Given the description of an element on the screen output the (x, y) to click on. 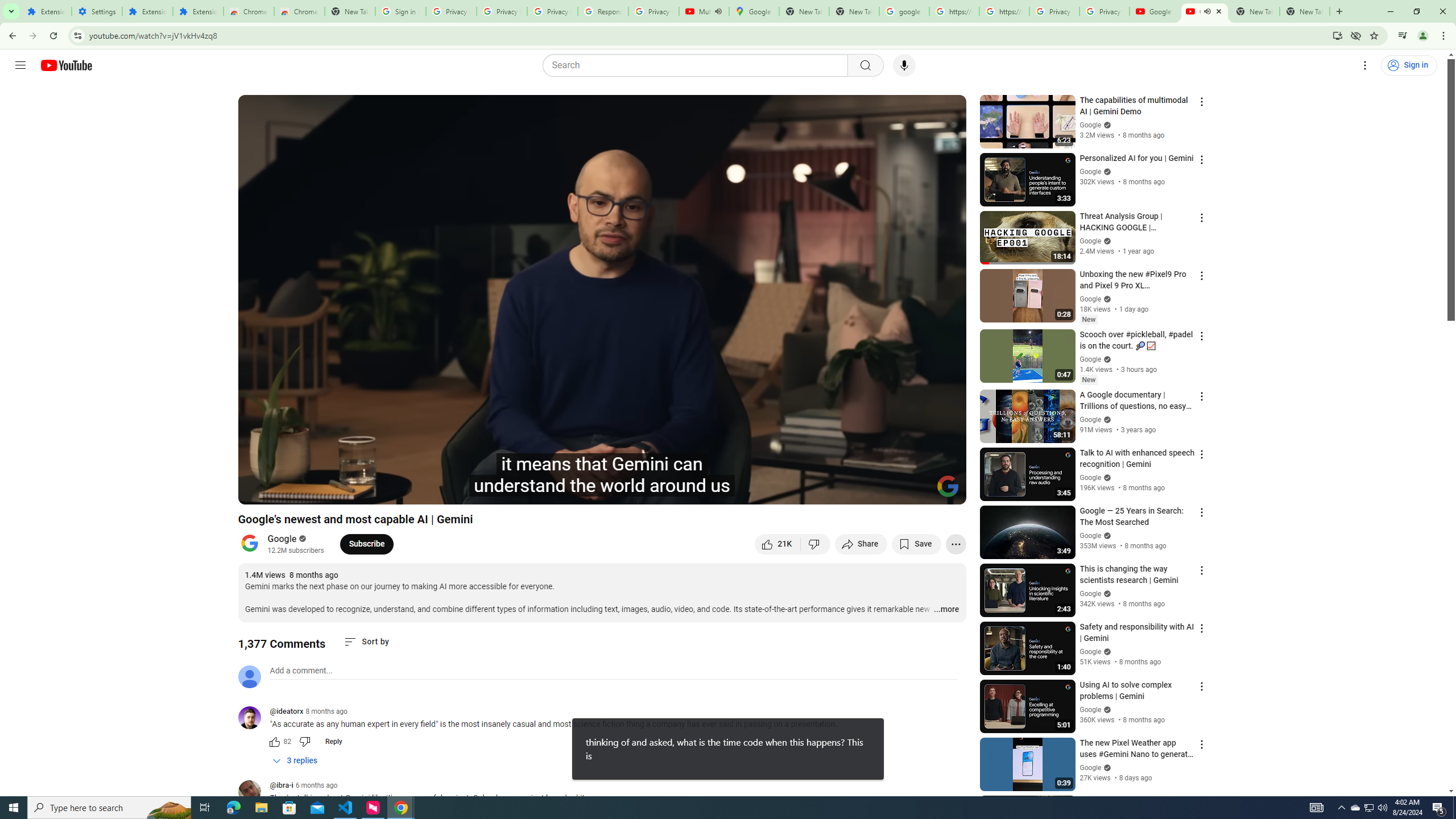
6 months ago (316, 785)
Autoplay is on (808, 490)
Action menu (1200, 802)
Sort comments (366, 641)
Extensions (146, 11)
Subtitles/closed captions unavailable (836, 490)
3 replies (295, 761)
Channel watermark (947, 486)
Channel watermark (947, 486)
